Given the description of an element on the screen output the (x, y) to click on. 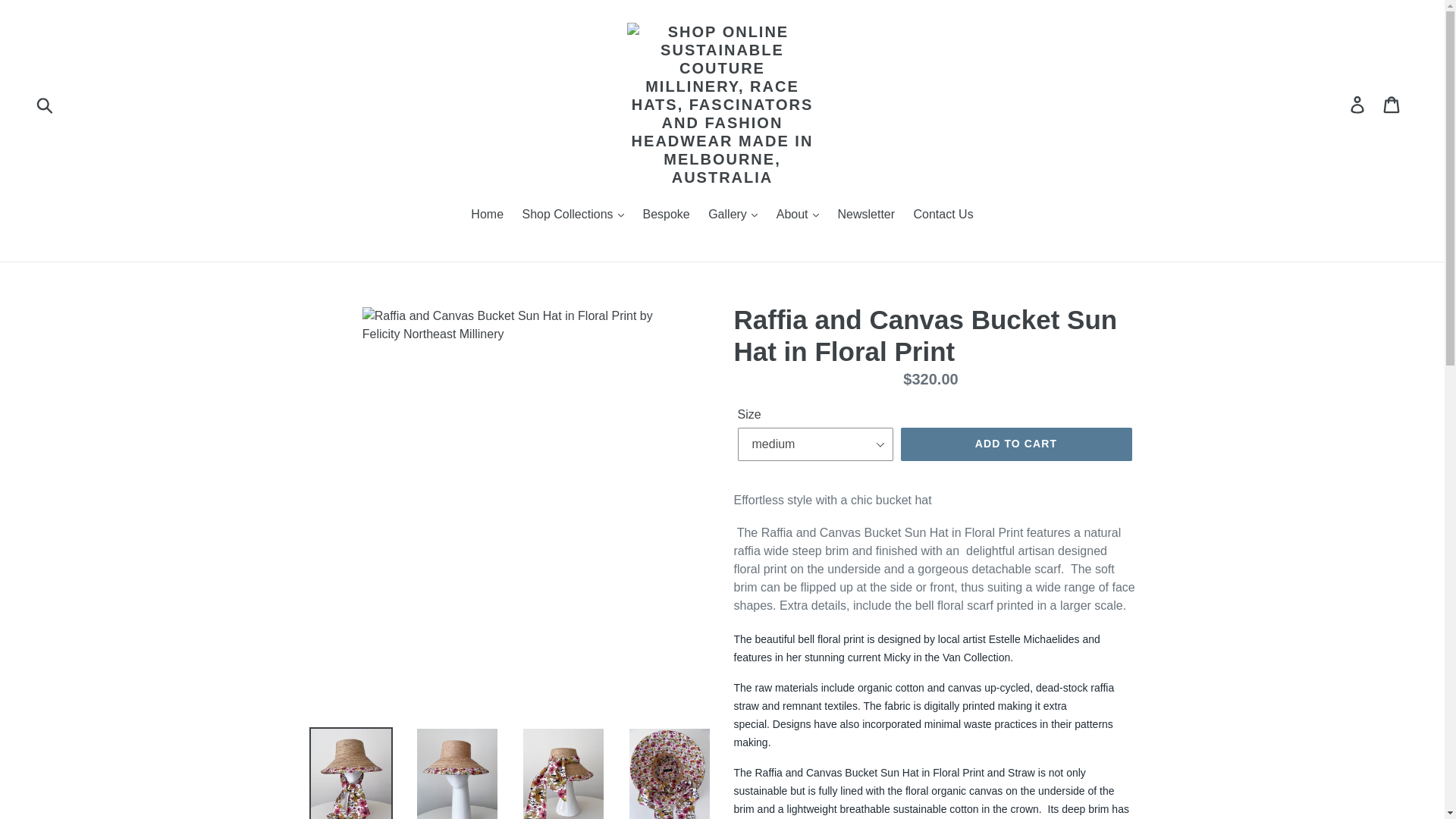
Cart (1392, 104)
Home (487, 215)
Submit (45, 104)
Bespoke (665, 215)
Log in (1357, 104)
